Given the description of an element on the screen output the (x, y) to click on. 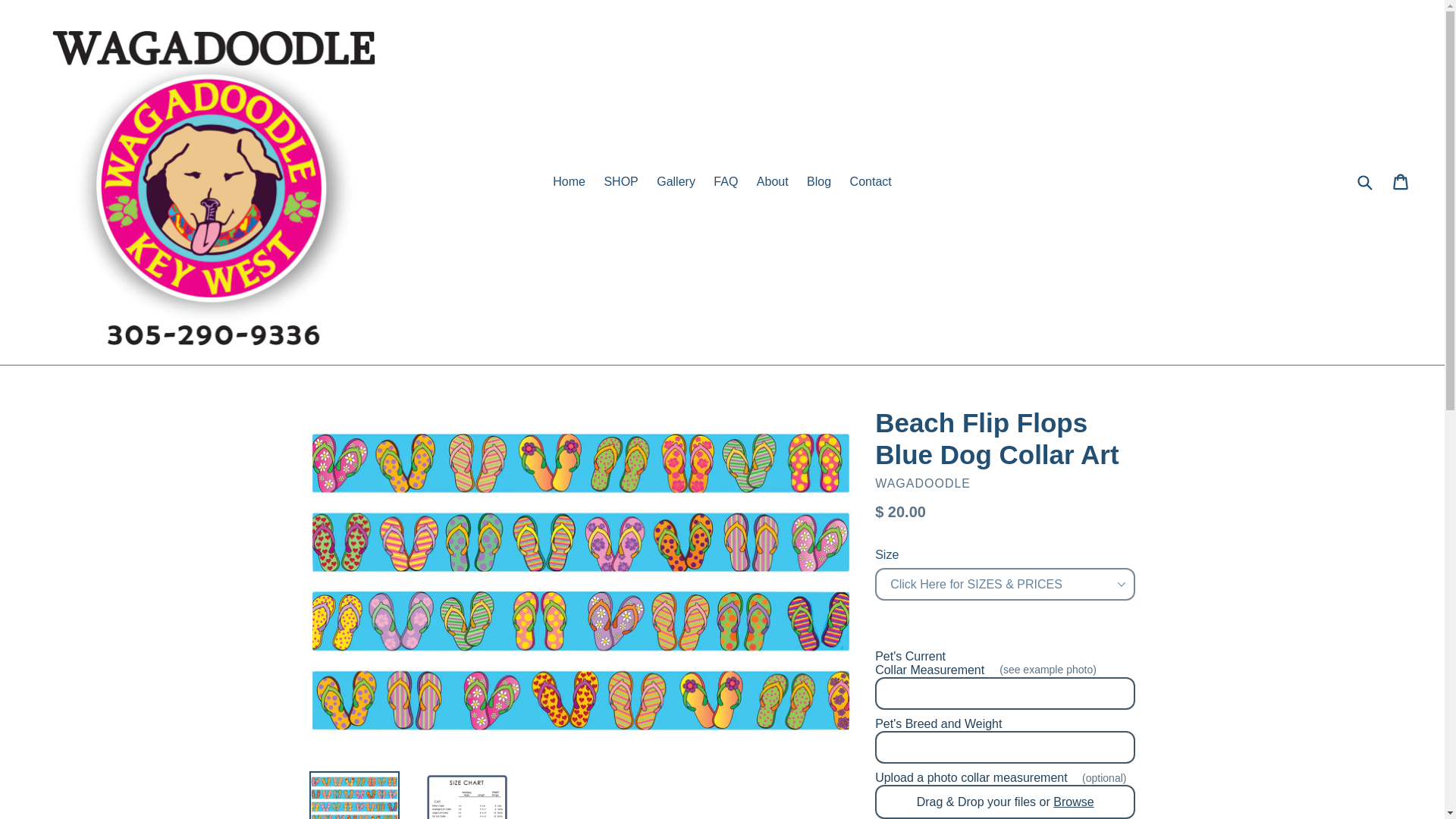
Contact (871, 181)
FAQ (725, 181)
SHOP (620, 181)
Blog (818, 181)
Gallery (676, 181)
Home (568, 181)
About (772, 181)
